Given the description of an element on the screen output the (x, y) to click on. 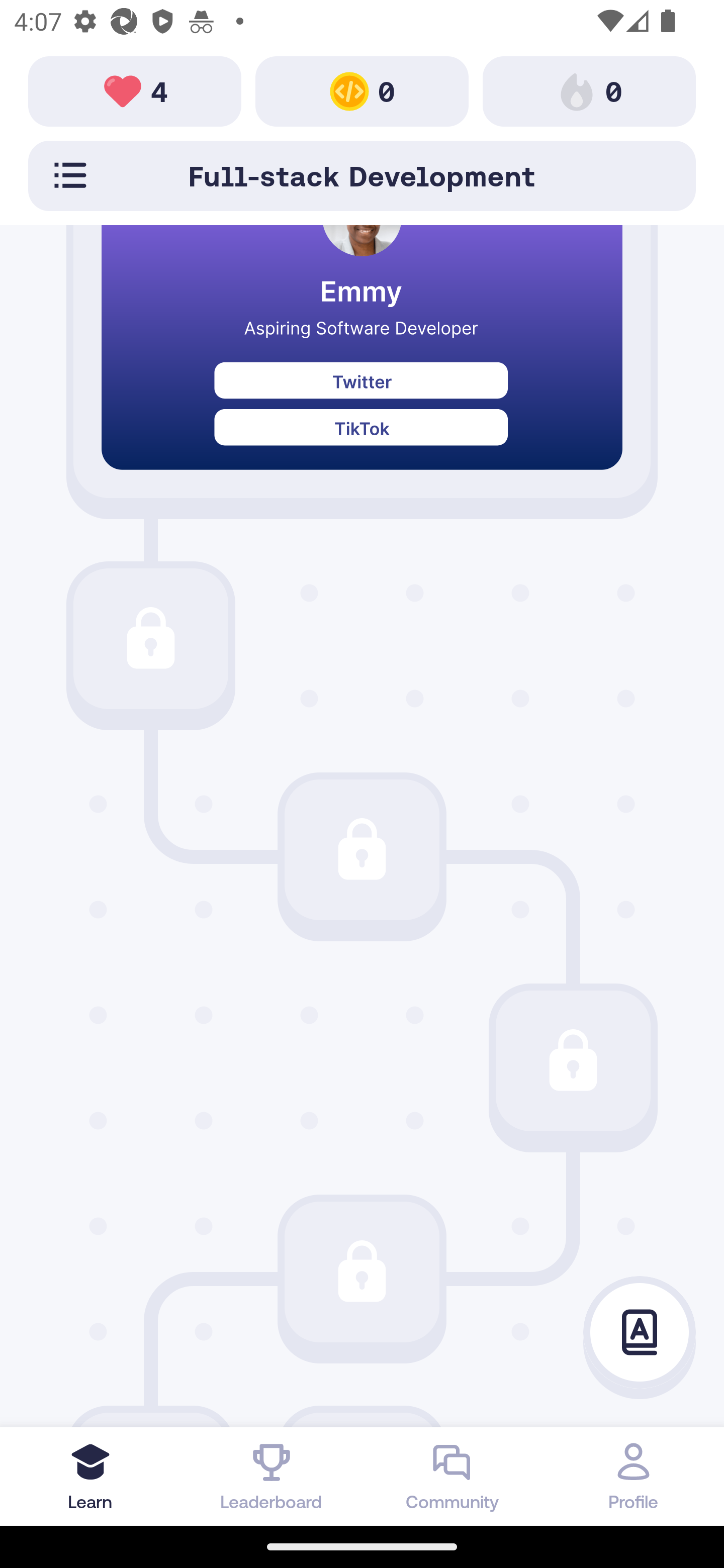
Path Toolbar Image 4 (134, 90)
Path Toolbar Image 0 (361, 90)
Path Toolbar Image 0 (588, 90)
Path Toolbar Selector Full-stack Development (361, 175)
preview image (361, 361)
Path Icon (150, 637)
Path Icon (361, 849)
Path Icon (572, 1060)
Path Icon (361, 1271)
Glossary Icon (639, 1332)
Leaderboard (271, 1475)
Community (452, 1475)
Profile (633, 1475)
